Given the description of an element on the screen output the (x, y) to click on. 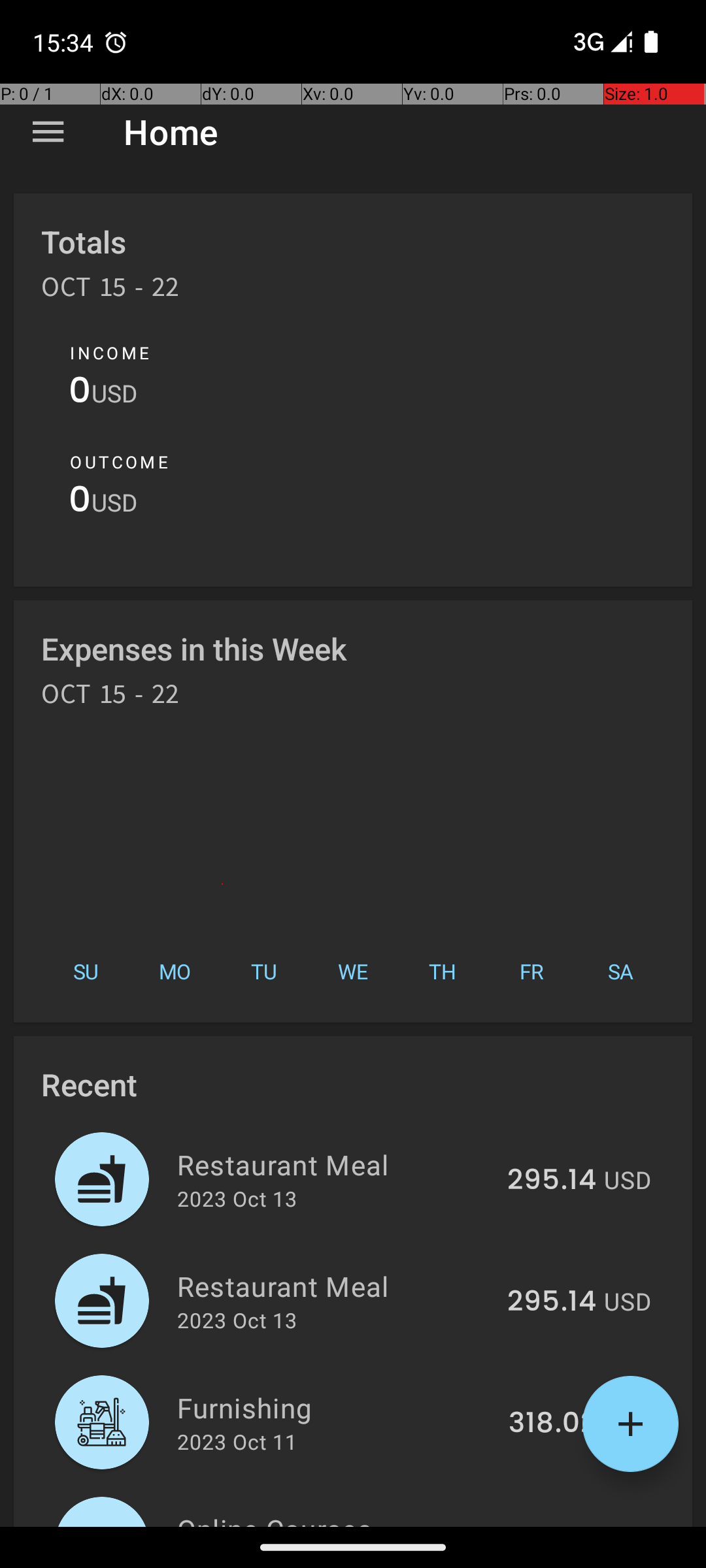
Restaurant Meal Element type: android.widget.TextView (334, 1164)
295.14 Element type: android.widget.TextView (551, 1180)
Furnishing Element type: android.widget.TextView (335, 1407)
318.02 Element type: android.widget.TextView (551, 1423)
Online Courses Element type: android.widget.TextView (338, 1518)
116.93 Element type: android.widget.TextView (554, 1524)
